Given the description of an element on the screen output the (x, y) to click on. 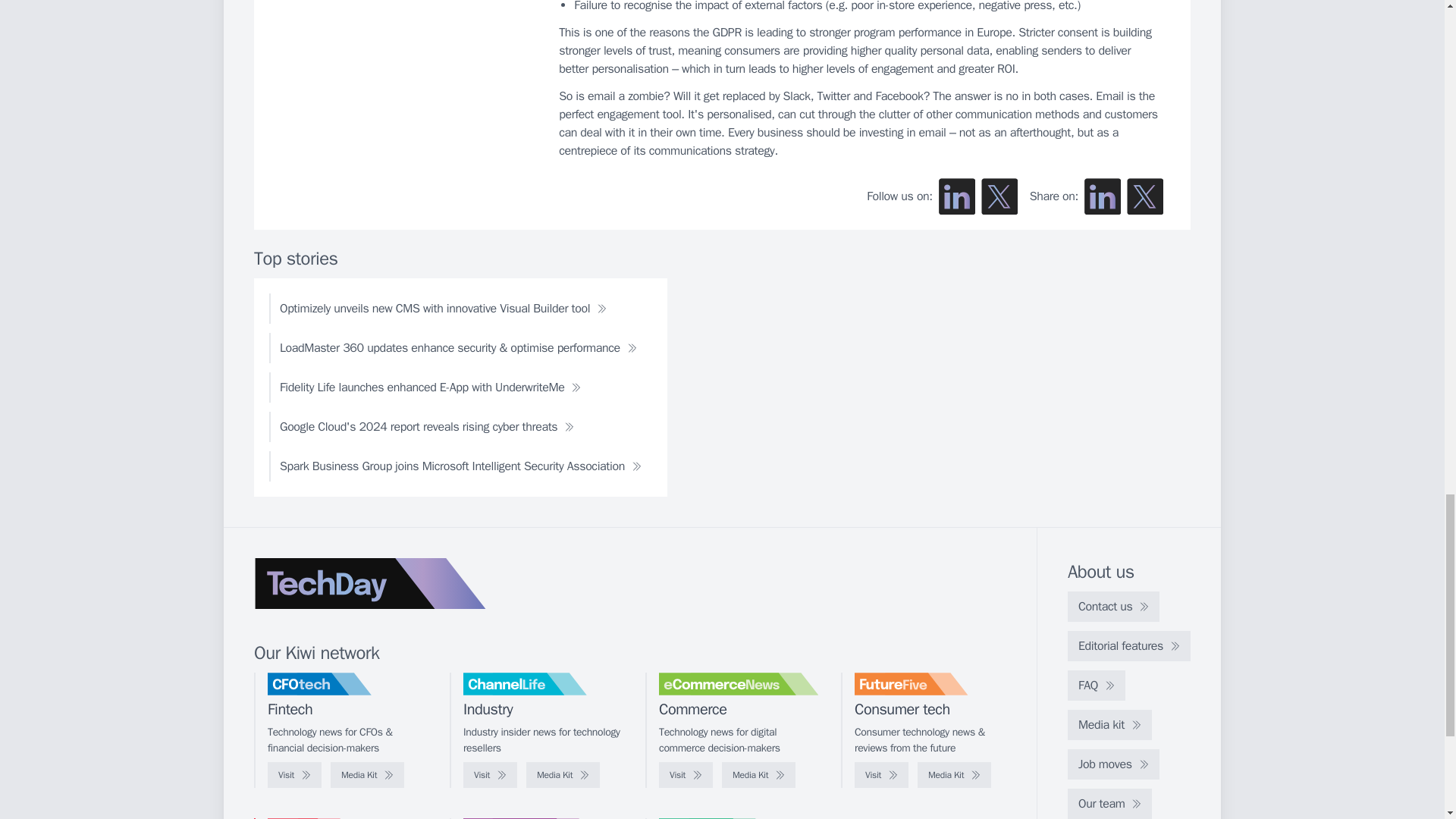
Visit (881, 774)
Media Kit (954, 774)
Visit (294, 774)
Visit (686, 774)
Fidelity Life launches enhanced E-App with UnderwriteMe (430, 387)
Google Cloud's 2024 report reveals rising cyber threats (427, 426)
Visit (489, 774)
Media Kit (758, 774)
Media Kit (367, 774)
Media Kit (562, 774)
